Given the description of an element on the screen output the (x, y) to click on. 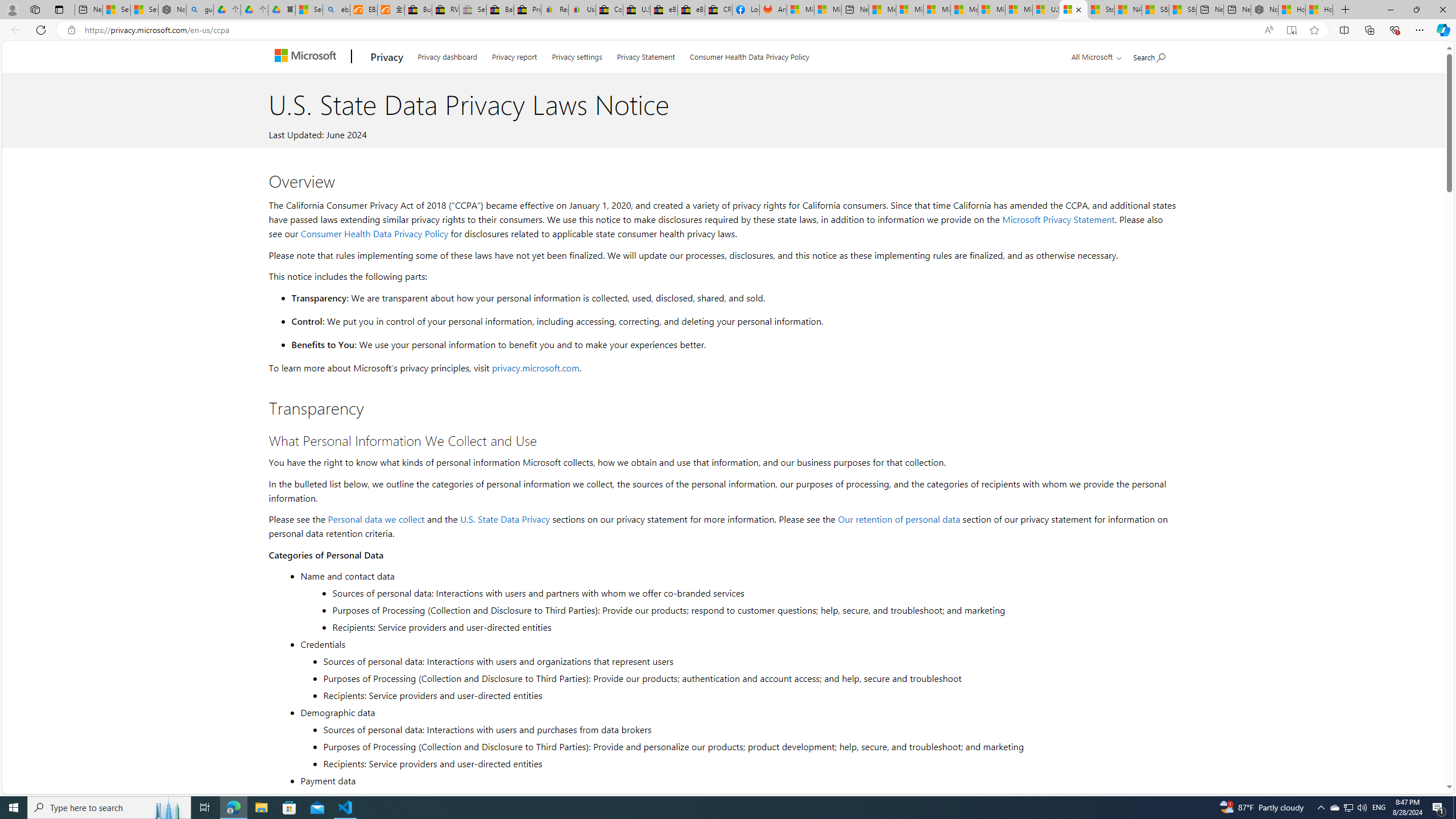
Credentials (736, 644)
Microsoft account | Privacy (909, 9)
Demographic data (736, 712)
Press Room - eBay Inc. (527, 9)
Privacy report (514, 54)
Privacy Statement (645, 54)
Enter Immersive Reader (F9) (1291, 29)
